Given the description of an element on the screen output the (x, y) to click on. 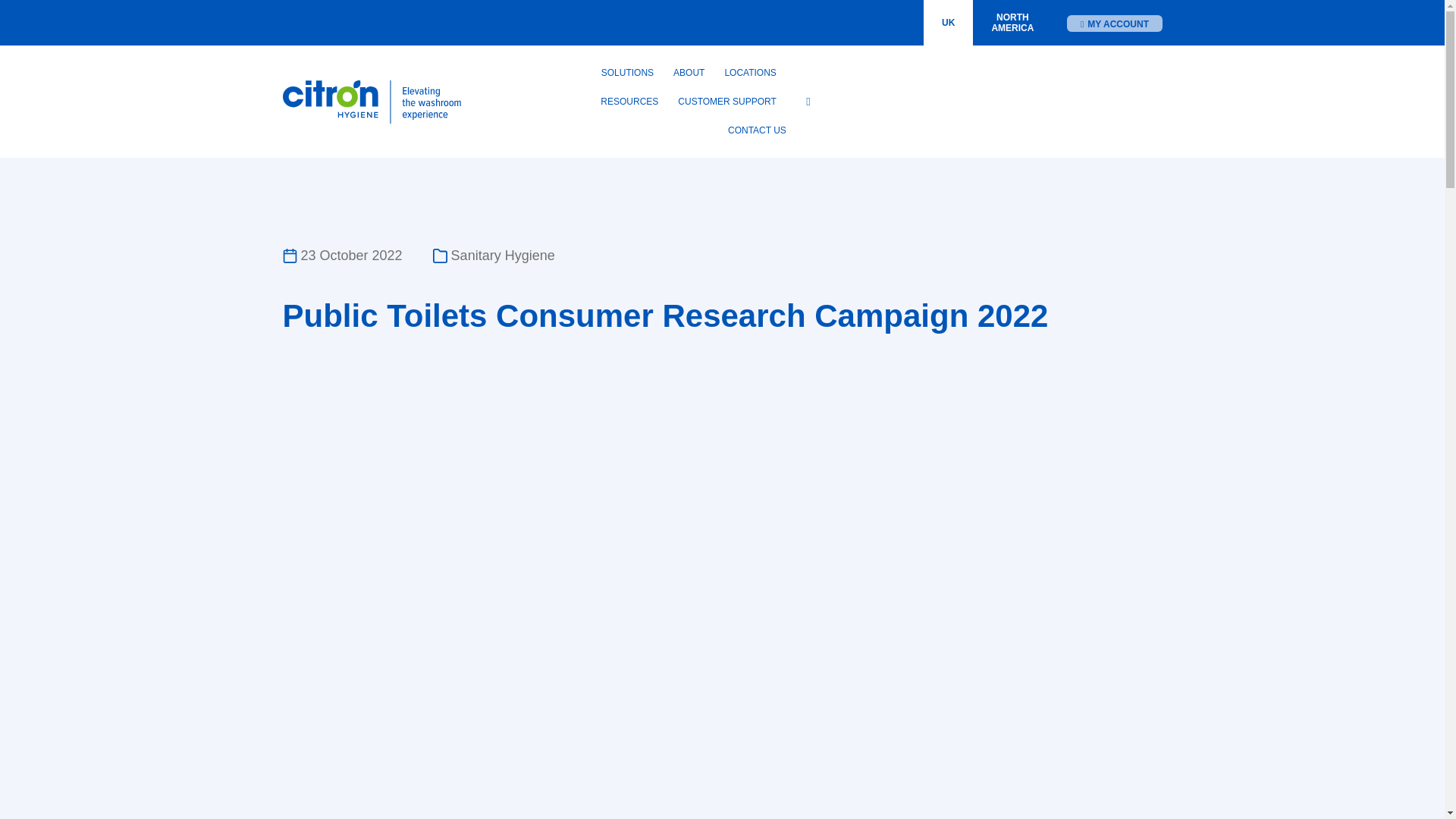
ABOUT (688, 72)
RESOURCES (1011, 22)
LOCATIONS (629, 101)
SOLUTIONS (750, 72)
UK (627, 72)
MY ACCOUNT (947, 22)
